Given the description of an element on the screen output the (x, y) to click on. 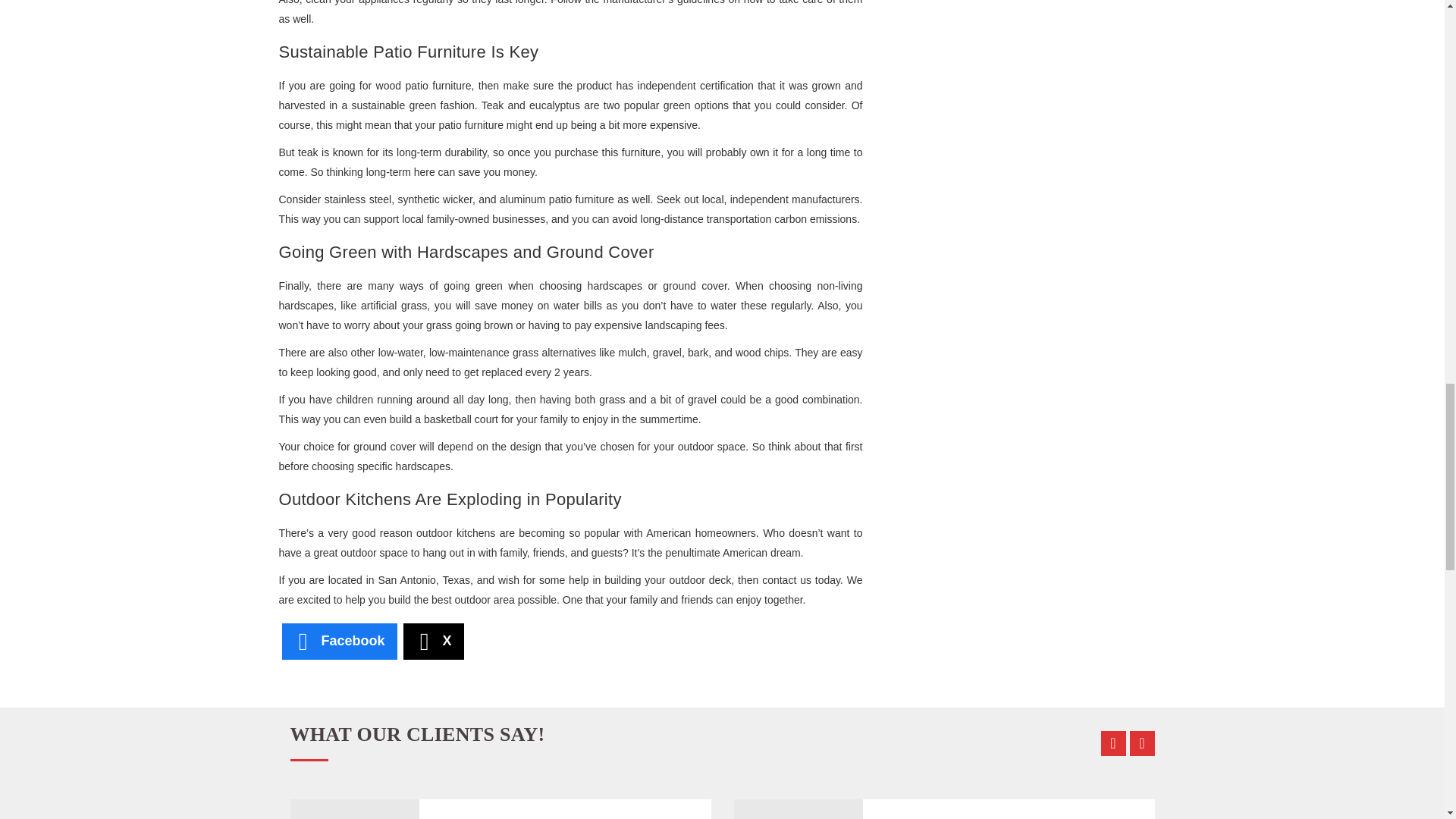
Facebook (339, 641)
Share this article on X (433, 641)
Share this article on Facebook (339, 641)
X (433, 641)
